Given the description of an element on the screen output the (x, y) to click on. 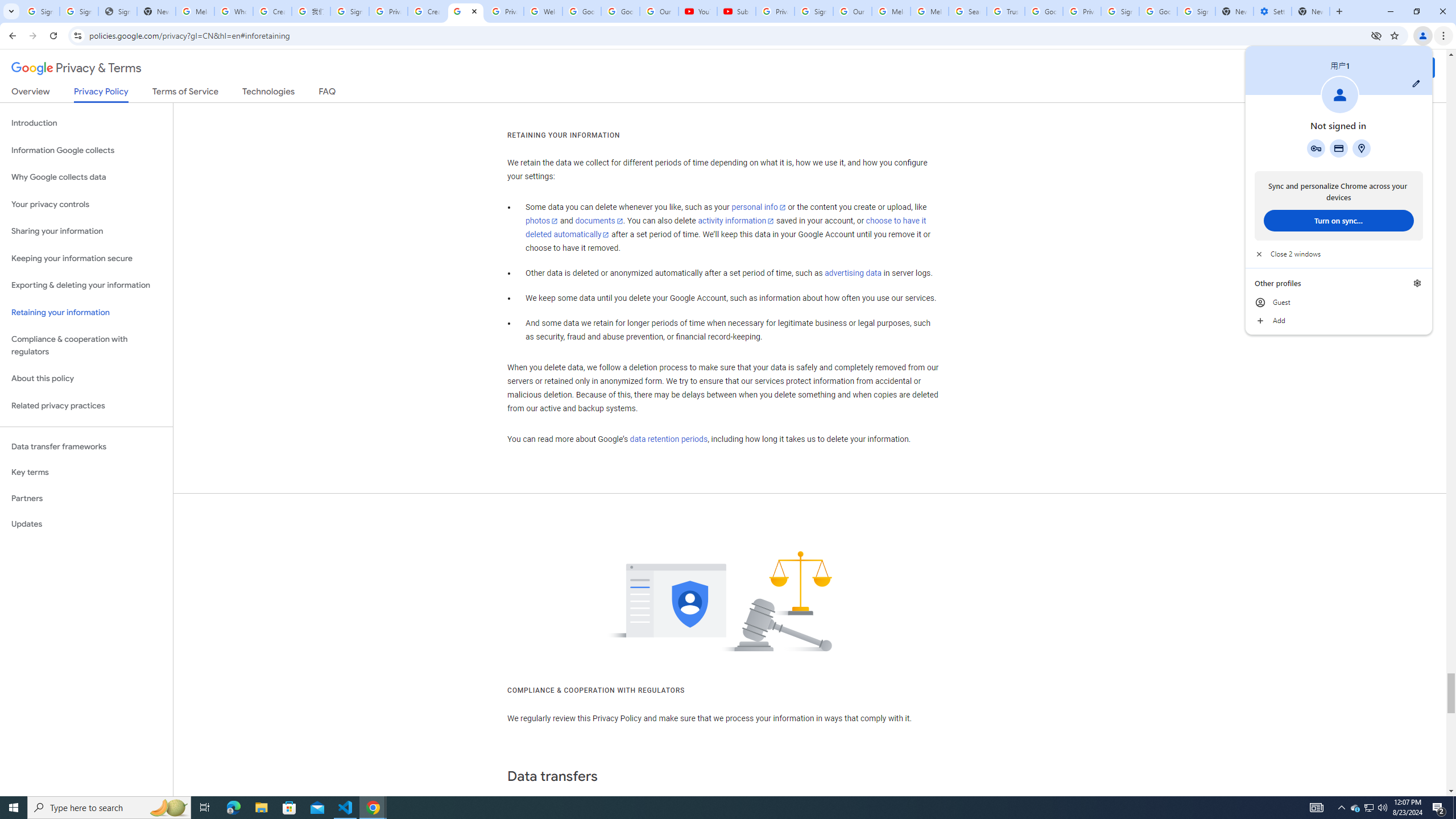
Running applications (717, 807)
Related privacy practices (86, 405)
photos (542, 221)
Q2790: 100% (1382, 807)
YouTube (697, 11)
Trusted Information and Content - Google Safety Center (1005, 11)
Retaining your information (86, 312)
